Given the description of an element on the screen output the (x, y) to click on. 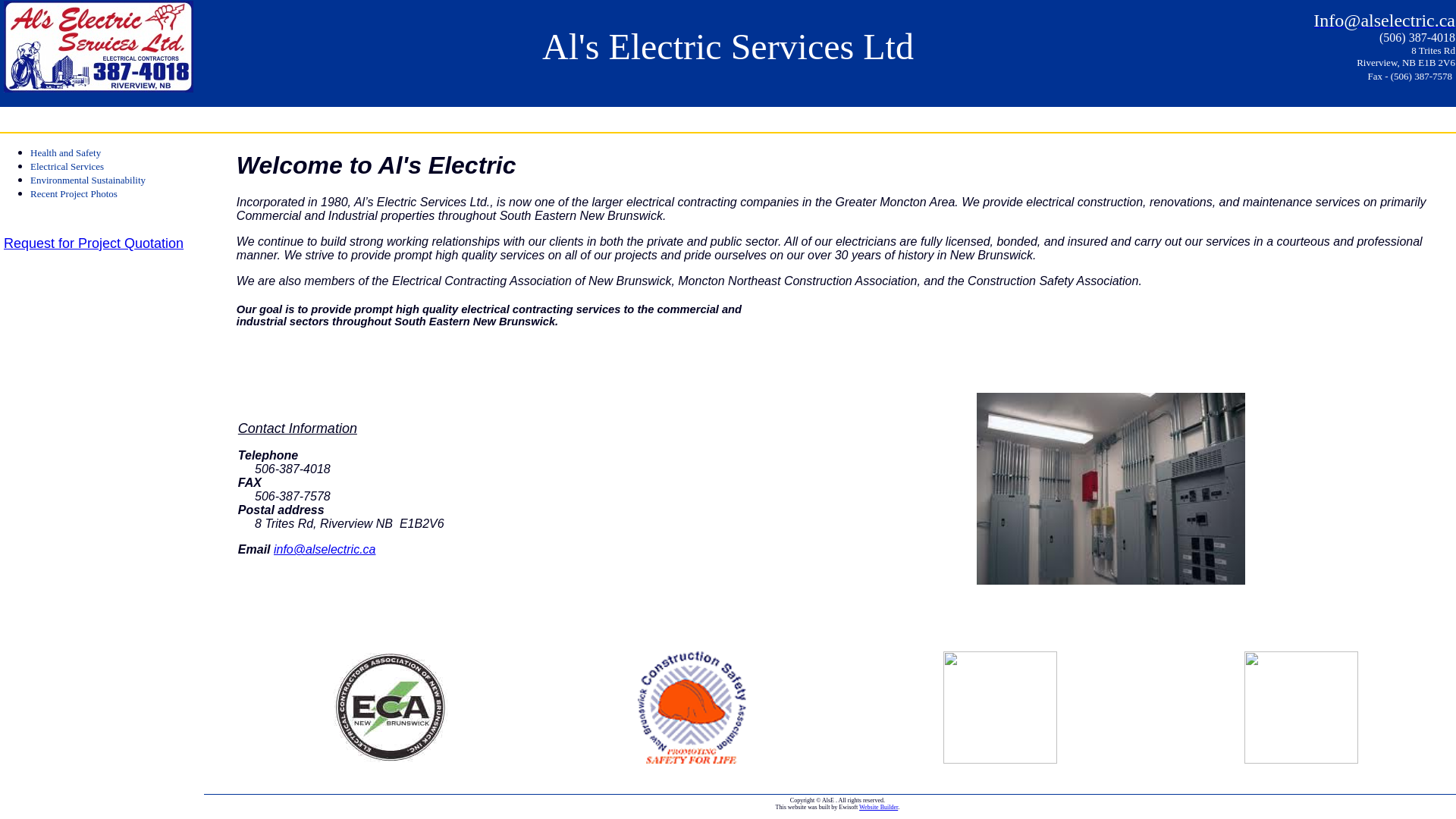
Info@alselectric.ca Element type: text (1384, 21)
info@alselectric.ca Element type: text (324, 548)
Request for Project Quotation Element type: text (93, 243)
Recent Project Photos Element type: text (73, 193)
Home Element type: text (20, 119)
Health and Safety Element type: text (65, 152)
Electrical Services Element type: text (66, 166)
Environmental Sustainability Element type: text (87, 179)
Website Builder Element type: text (878, 806)
